Given the description of an element on the screen output the (x, y) to click on. 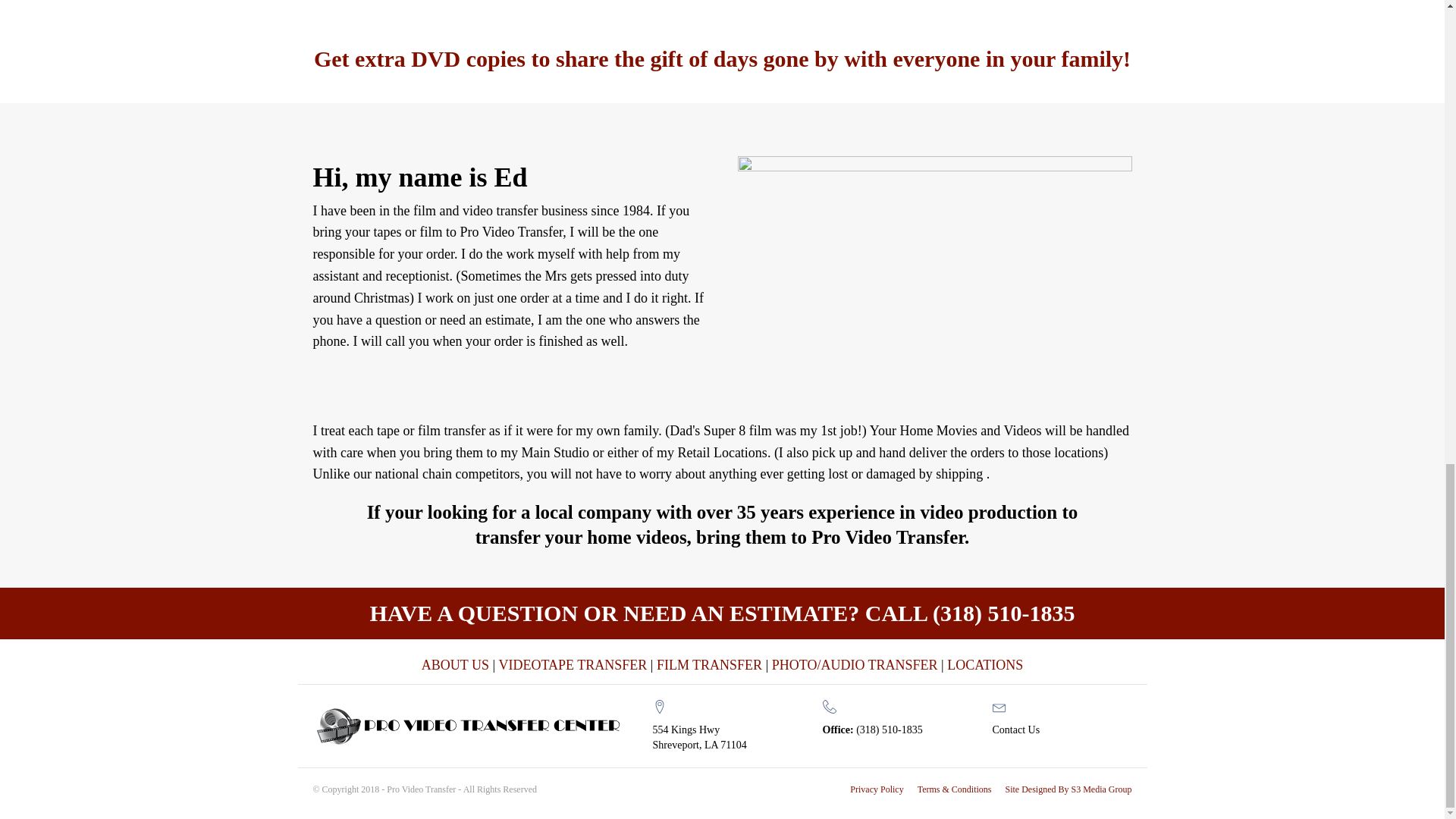
Privacy Policy (876, 789)
FILM TRANSFER (708, 665)
Contact Us (1015, 729)
VIDEOTAPE TRANSFER (573, 665)
LOCATIONS (985, 665)
Site Designed By S3 Media Group (1069, 789)
ABOUT US (455, 665)
